Given the description of an element on the screen output the (x, y) to click on. 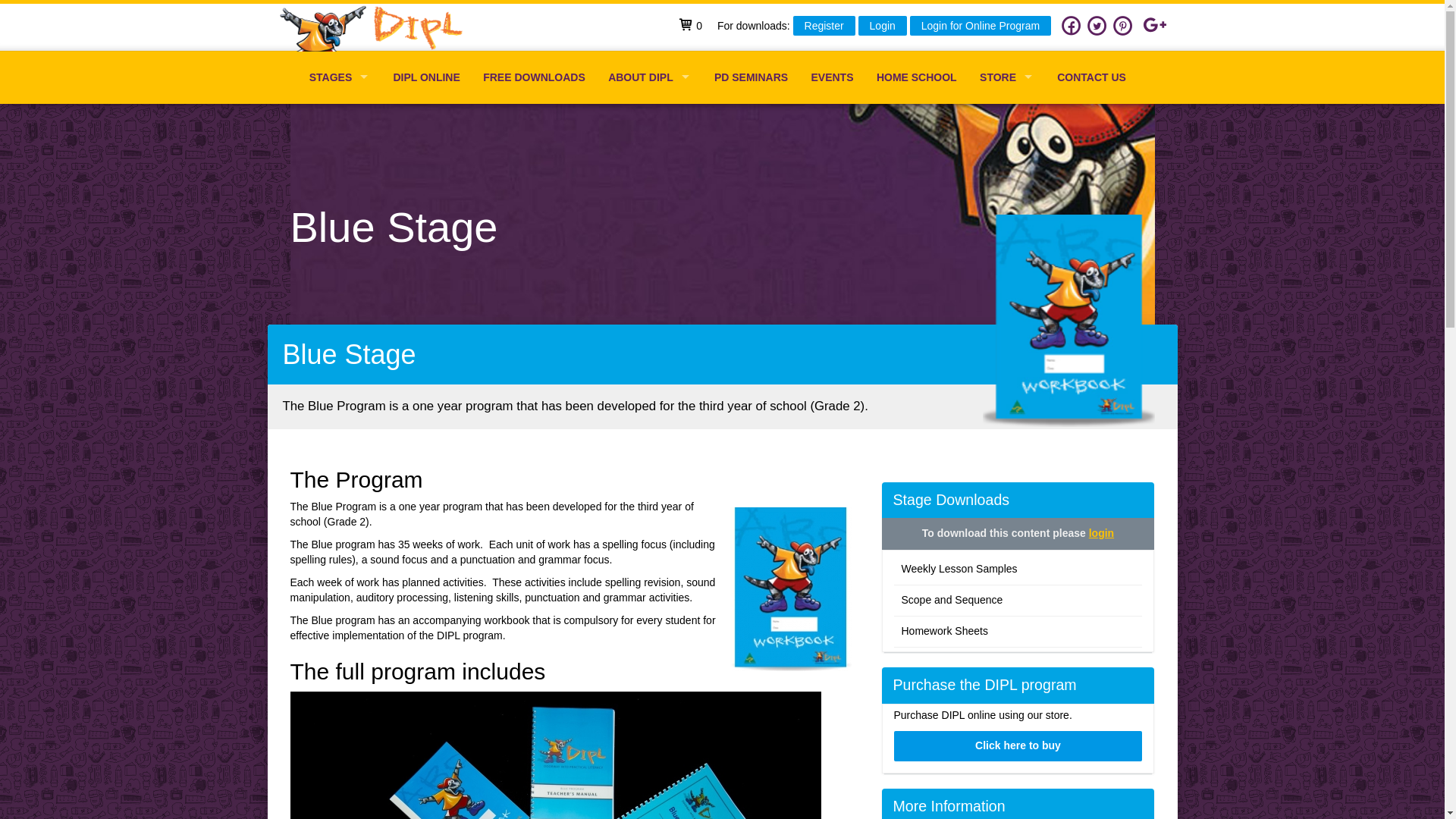
Register Element type: text (824, 25)
CONTACT US Element type: text (1091, 77)
Login Element type: text (882, 25)
ABOUT DIPL Element type: text (649, 77)
PD SEMINARS Element type: text (751, 77)
DIPL ONLINE Element type: text (426, 77)
EVENTS Element type: text (831, 77)
  Element type: text (375, 27)
login Element type: text (1100, 533)
Click here to buy Element type: text (1017, 746)
FREE DOWNLOADS Element type: text (533, 77)
STAGES Element type: text (339, 77)
HOME SCHOOL Element type: text (916, 77)
STORE Element type: text (1006, 77)
Login for Online Program Element type: text (980, 25)
